Given the description of an element on the screen output the (x, y) to click on. 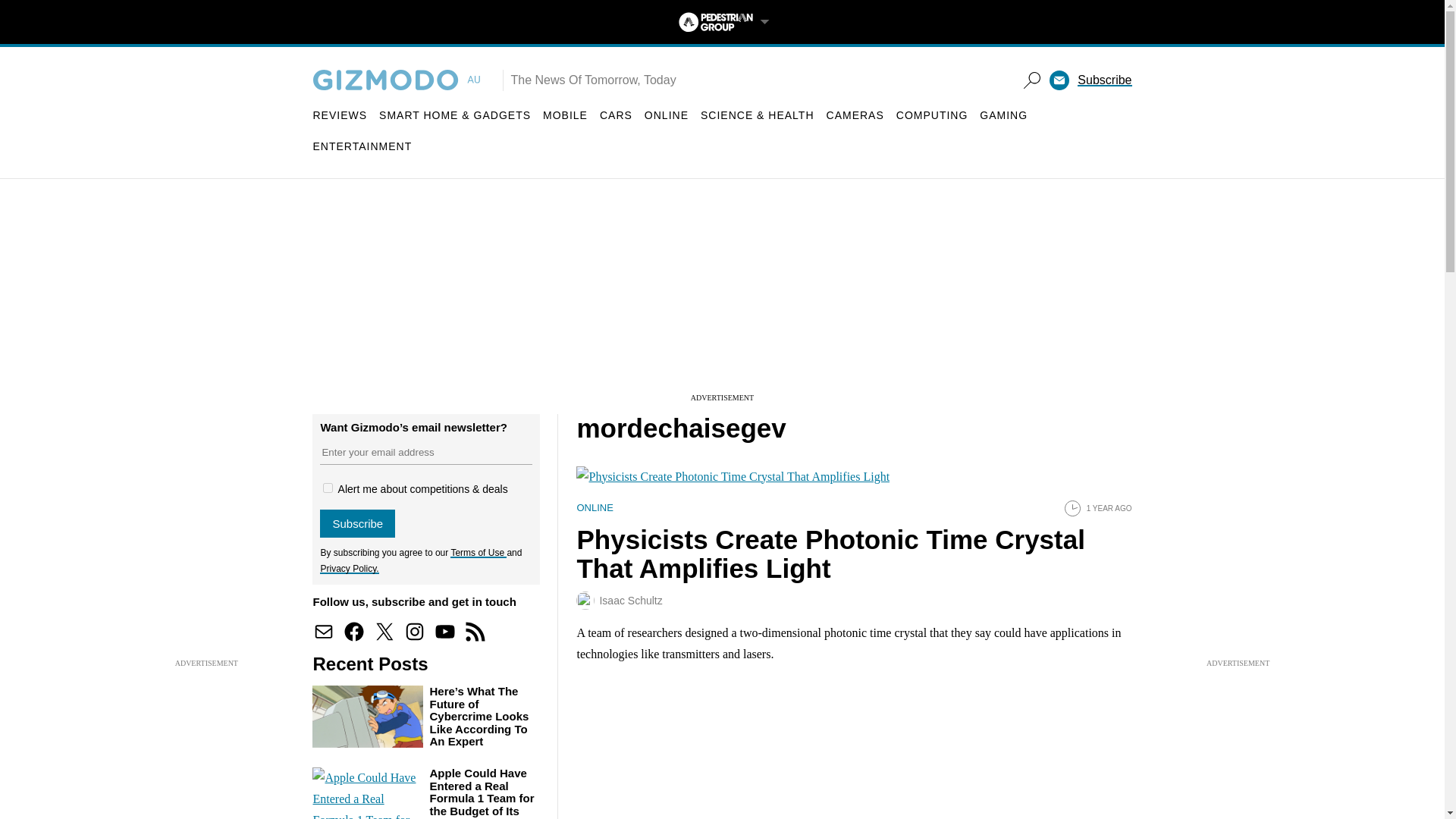
Subscribe (357, 523)
MOBILE (565, 115)
ONLINE (666, 115)
COMPUTING (932, 115)
CAMERAS (855, 115)
GAMING (1003, 115)
ENTERTAINMENT (362, 145)
Subscribe (1104, 79)
CARS (615, 115)
REVIEWS (339, 115)
